Given the description of an element on the screen output the (x, y) to click on. 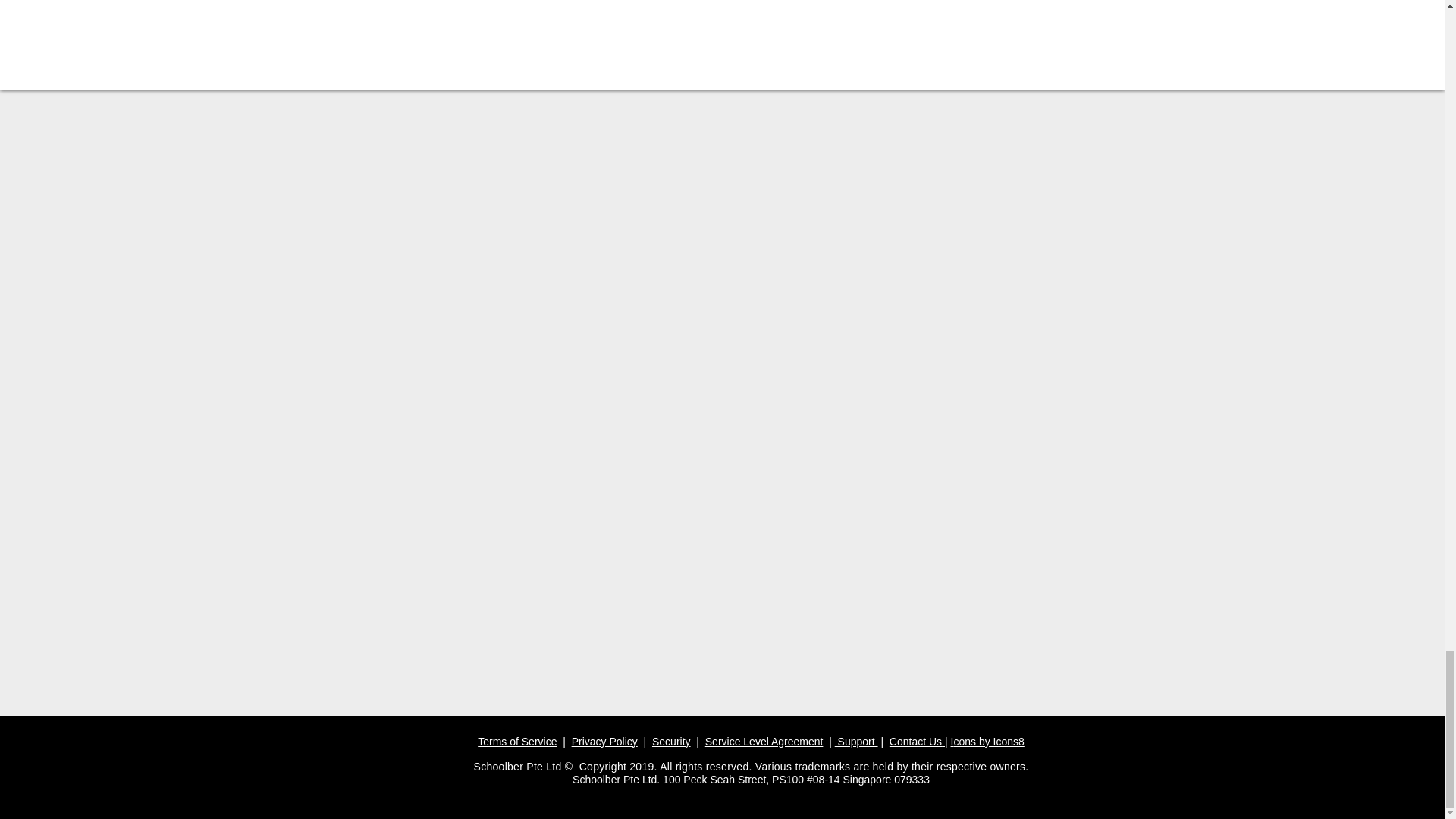
Privacy Policy (604, 741)
Security (671, 741)
Service Level Agreement (764, 741)
Support  (855, 741)
Terms of Service (516, 741)
Contact Us (915, 741)
